Given the description of an element on the screen output the (x, y) to click on. 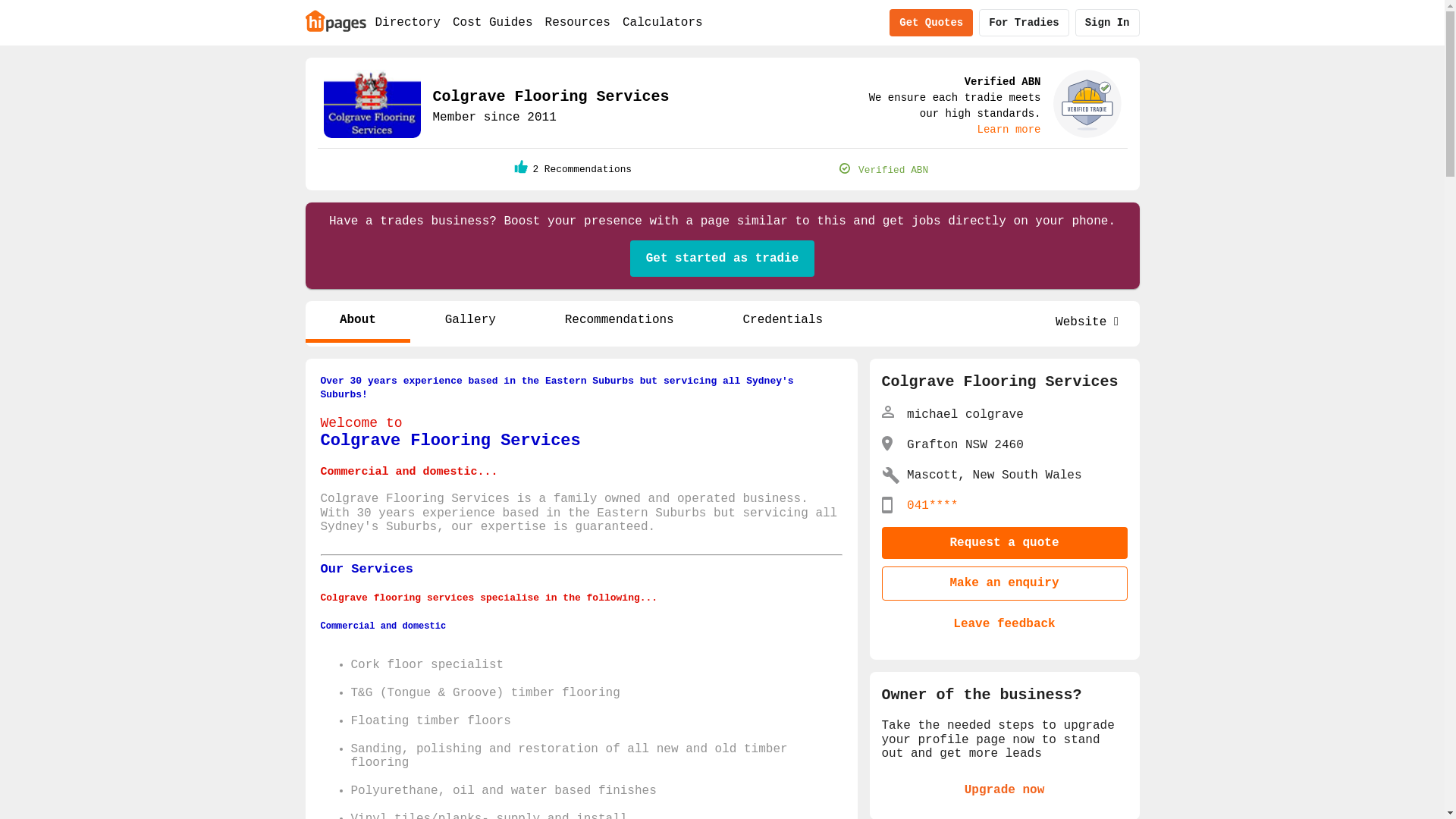
Cost Guides Element type: text (492, 22)
Upgrade now Element type: text (1003, 790)
For Tradies Element type: text (1023, 22)
Request a quote Element type: text (1003, 542)
Gallery Element type: text (470, 321)
Sign In Element type: text (1107, 22)
Leave feedback Element type: text (1003, 624)
Credentials Element type: text (782, 321)
Get Quotes Element type: text (930, 22)
Upgrade now Element type: text (1003, 789)
Get started as tradie Element type: text (722, 258)
Learn more Element type: text (1008, 130)
Get started as tradie Element type: text (722, 258)
Directory Element type: text (406, 22)
For Tradies Element type: text (1023, 22)
041**** Element type: text (931, 505)
Recommendations Element type: text (619, 321)
Home Element type: hover (334, 20)
Make an enquiry Element type: text (1003, 582)
About Element type: text (357, 321)
Calculators Element type: text (662, 22)
Resources Element type: text (577, 22)
